Given the description of an element on the screen output the (x, y) to click on. 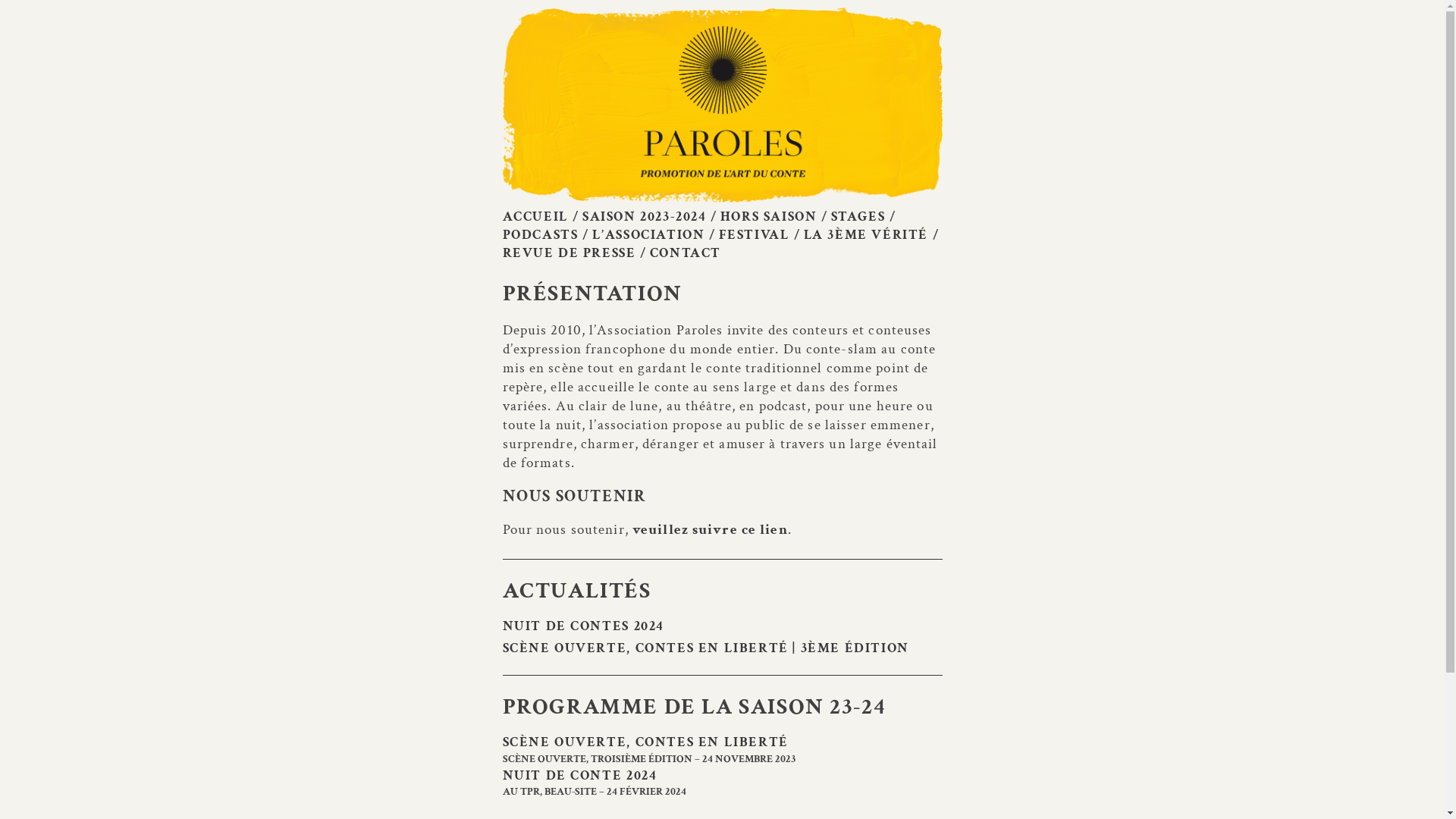
STAGES Element type: text (863, 216)
PODCASTS Element type: text (545, 234)
veuillez suivre ce lien Element type: text (709, 529)
ACCUEIL Element type: text (540, 216)
HORS SAISON Element type: text (774, 216)
REVUE DE PRESSE Element type: text (574, 252)
CONTACT Element type: text (685, 252)
SAISON 2023-2024 Element type: text (649, 216)
NUIT DE CONTES 2024 Element type: text (721, 625)
FESTIVAL Element type: text (759, 234)
NUIT DE CONTE 2024 Element type: text (721, 775)
